Given the description of an element on the screen output the (x, y) to click on. 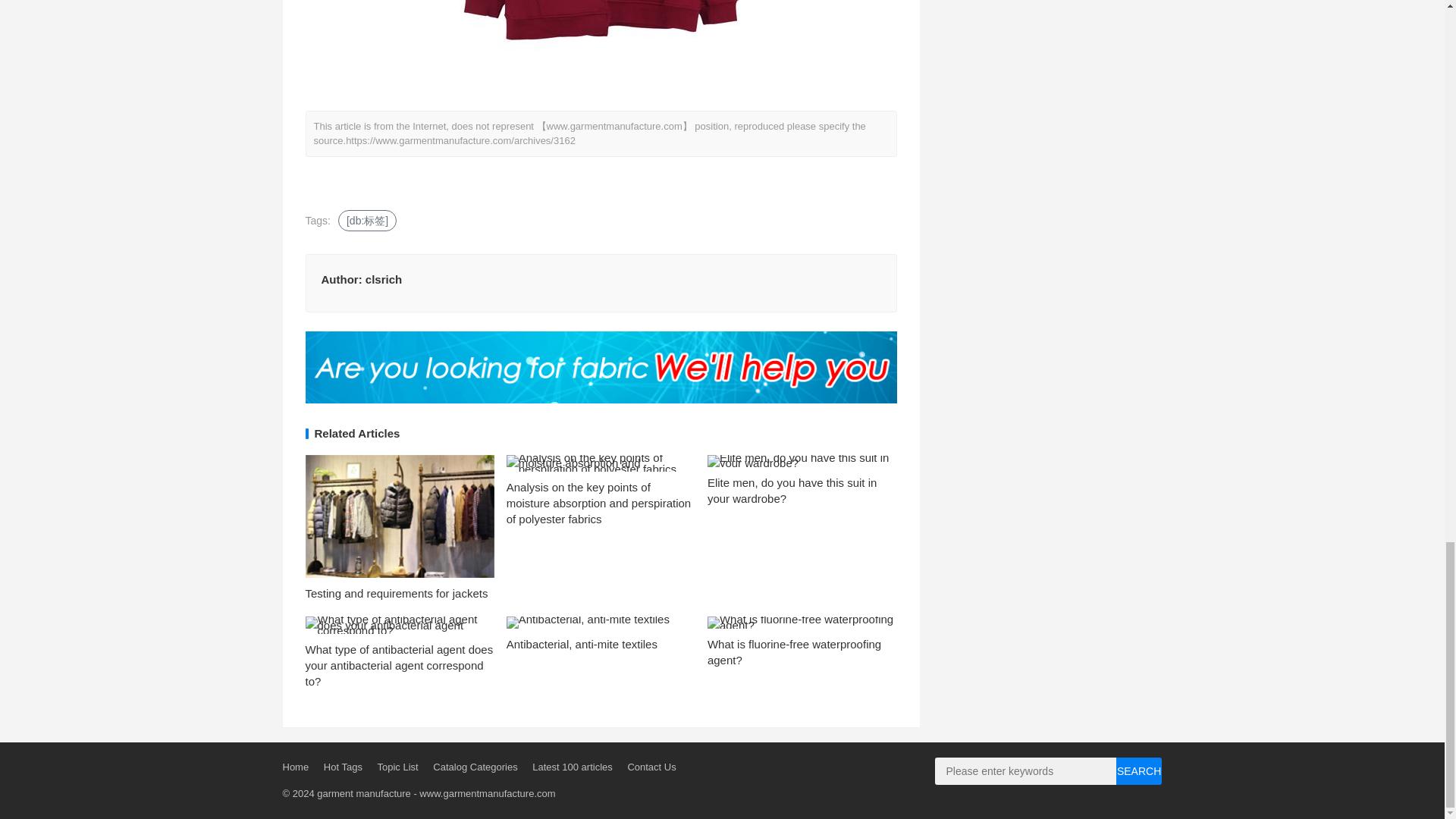
Testing and requirements for jackets (395, 593)
Elite men, do you have this suit in your wardrobe? (791, 490)
Antibacterial, anti-mite textiles (582, 644)
clsrich (383, 278)
What is fluorine-free waterproofing agent? (793, 652)
